Given the description of an element on the screen output the (x, y) to click on. 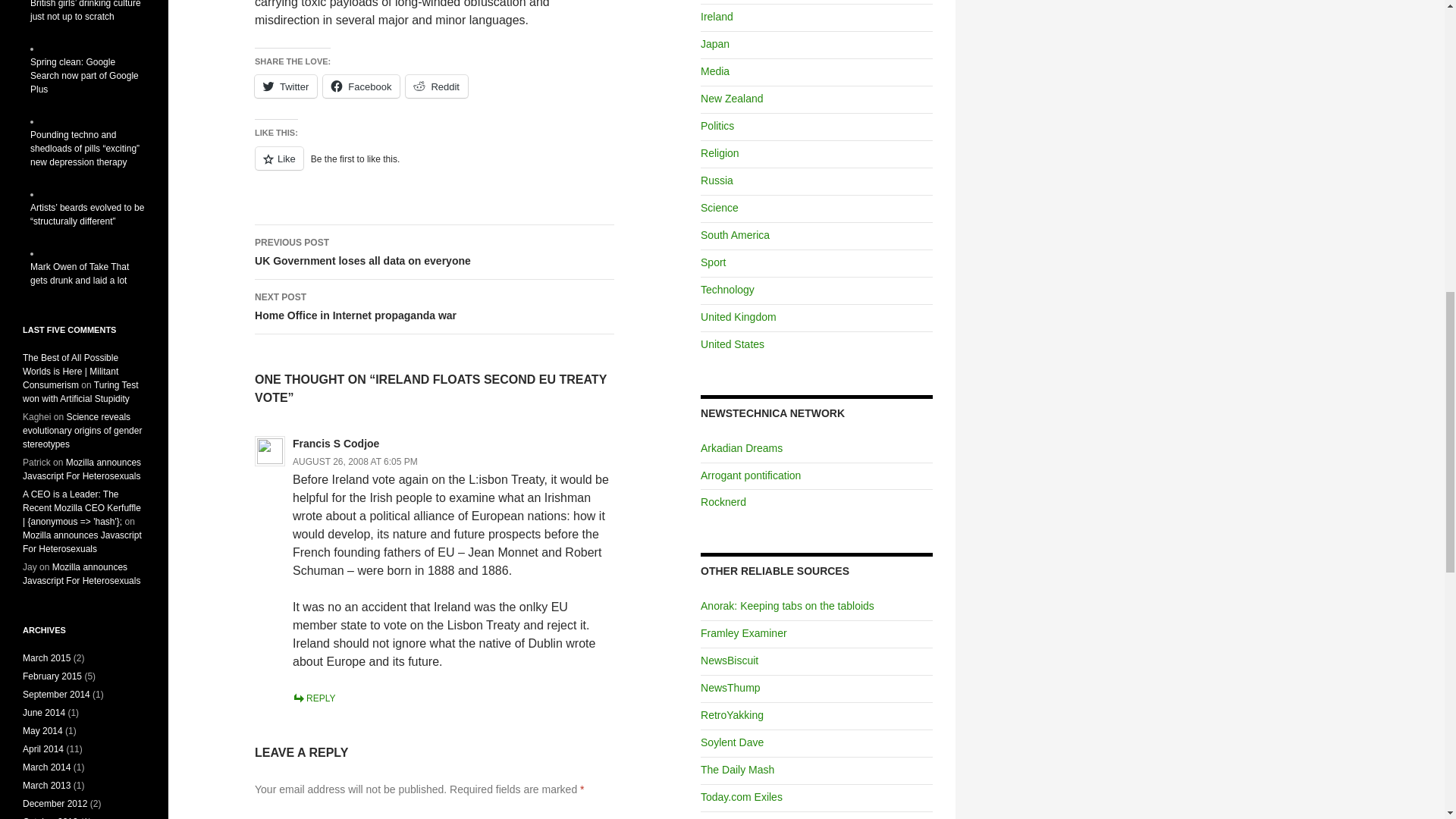
The news before it happens (434, 307)
REPLY (729, 660)
Northern humour with Harry Yack (313, 697)
AUGUST 26, 2008 AT 6:05 PM (731, 715)
Unimaginative Pseudonym (354, 461)
Tabloid news for broadsheet readers (434, 252)
Twitter (731, 742)
NewsThump (787, 605)
Click to share on Reddit (285, 86)
Reddit (730, 687)
Click to share on Twitter (436, 86)
Click to share on Facebook (436, 86)
Like or Reblog (285, 86)
